Given the description of an element on the screen output the (x, y) to click on. 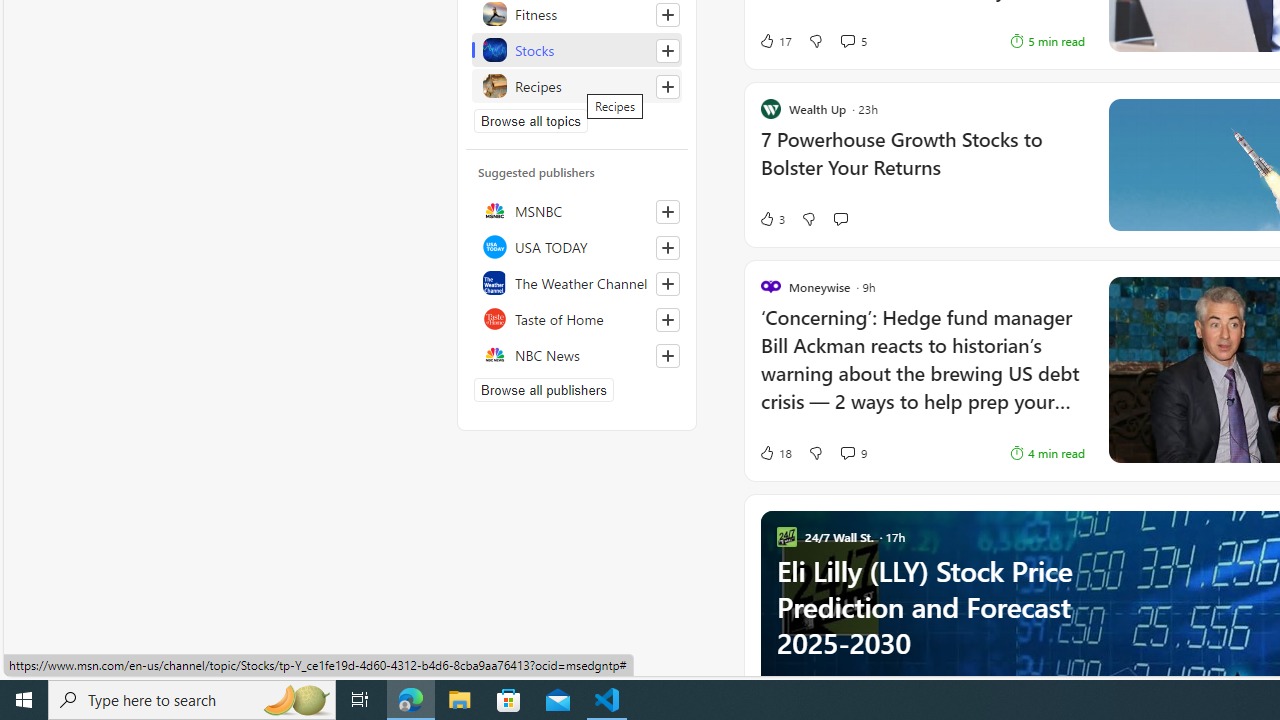
Stocks (577, 49)
Follow this topic (667, 86)
17 Like (775, 40)
NBC News (577, 354)
The Weather Channel (577, 282)
USA TODAY (577, 246)
View comments 9 Comment (852, 452)
Follow this source (667, 355)
MSNBC (577, 210)
Browse all publishers (543, 389)
Follow this source (667, 355)
Browse all topics (530, 120)
18 Like (775, 452)
View comments 5 Comment (847, 40)
